Given the description of an element on the screen output the (x, y) to click on. 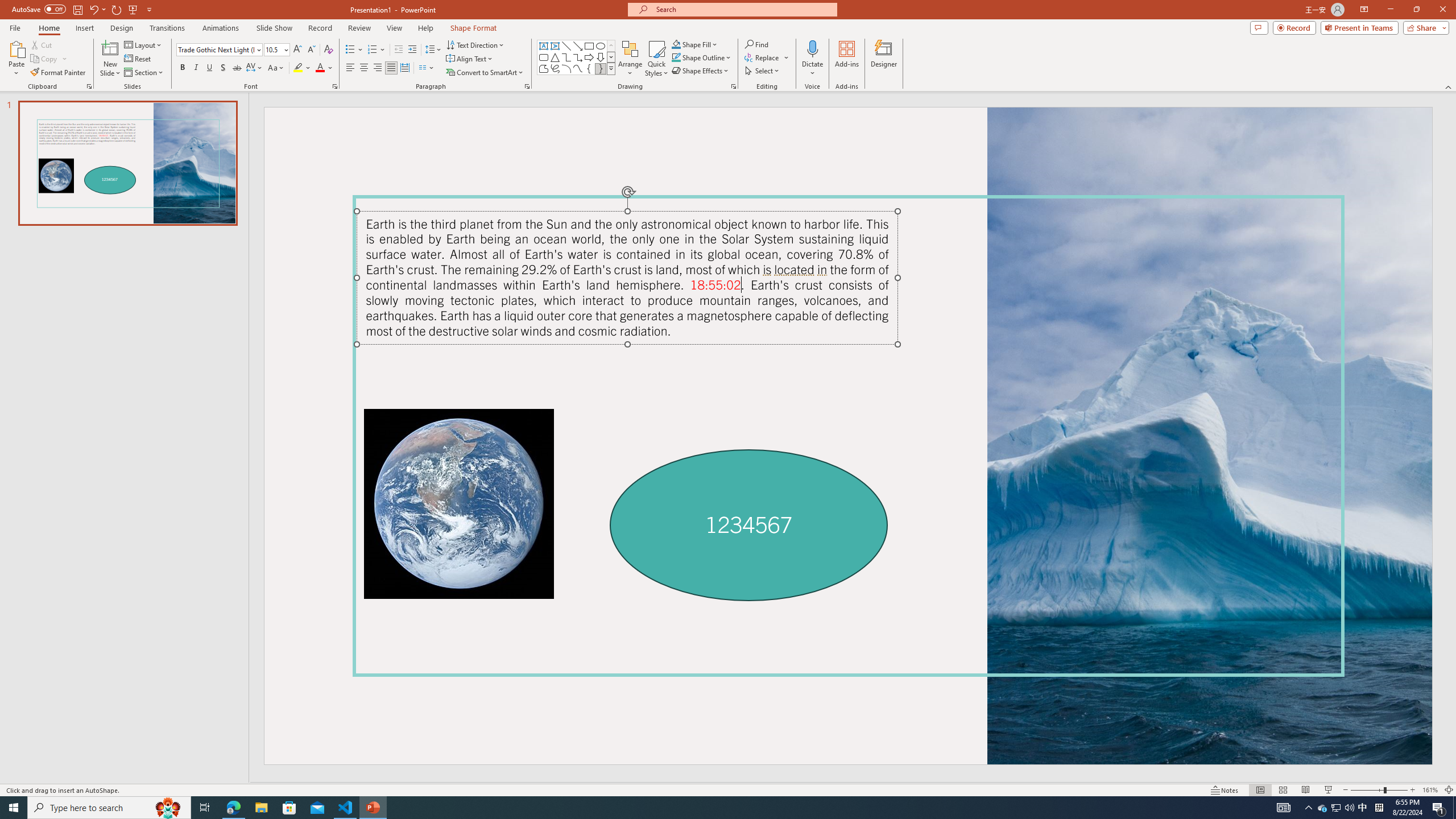
Line Spacing (433, 49)
Text Box (543, 45)
Clear Formatting (327, 49)
Strikethrough (237, 67)
Left Brace (589, 68)
Right Brace (600, 68)
Align Right (377, 67)
Rectangle (589, 45)
